Given the description of an element on the screen output the (x, y) to click on. 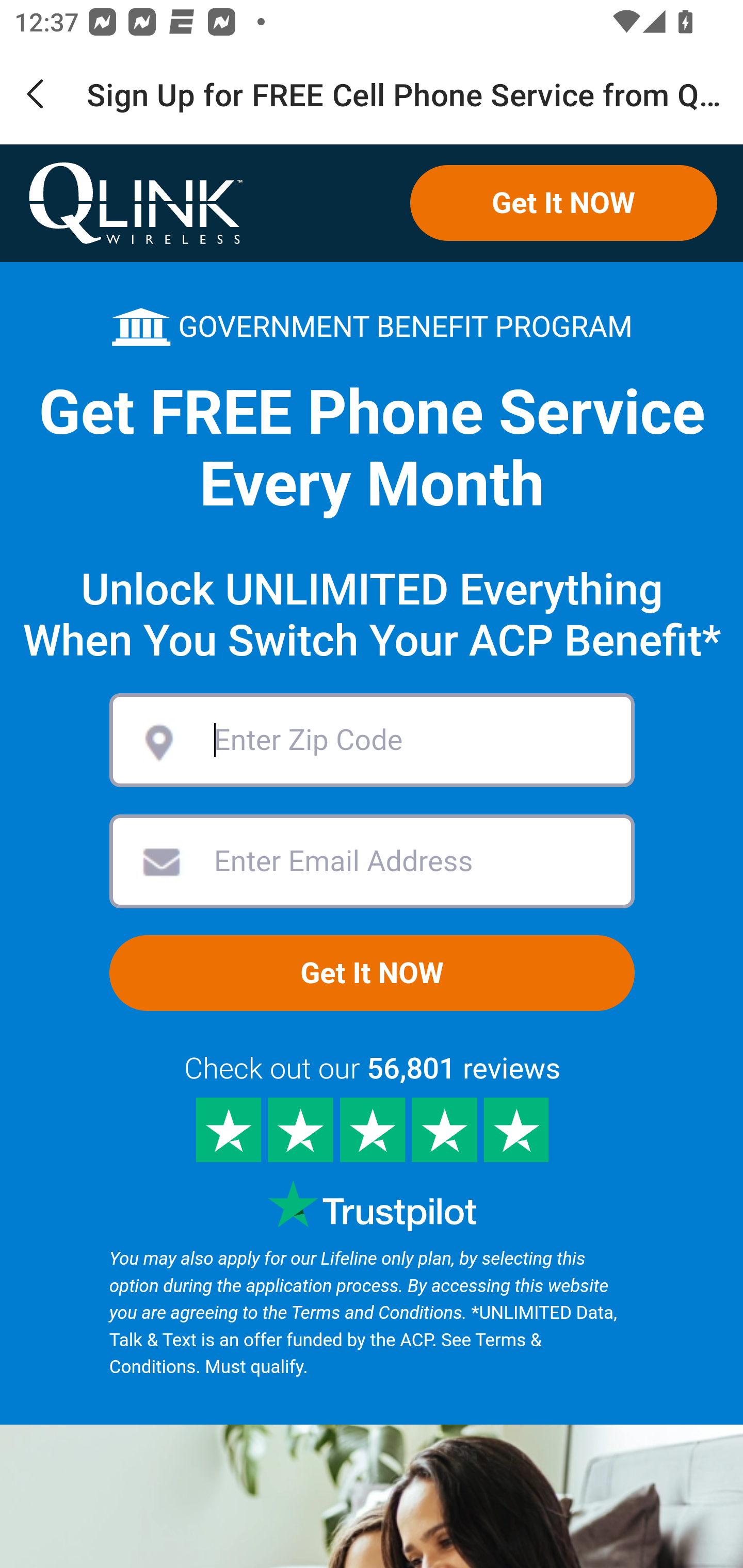
Get It NOW (562, 202)
Get It NOW (372, 973)
4.8 out of five star rating on Trustpilot (371, 1129)
Trustpilot (372, 1205)
